Given the description of an element on the screen output the (x, y) to click on. 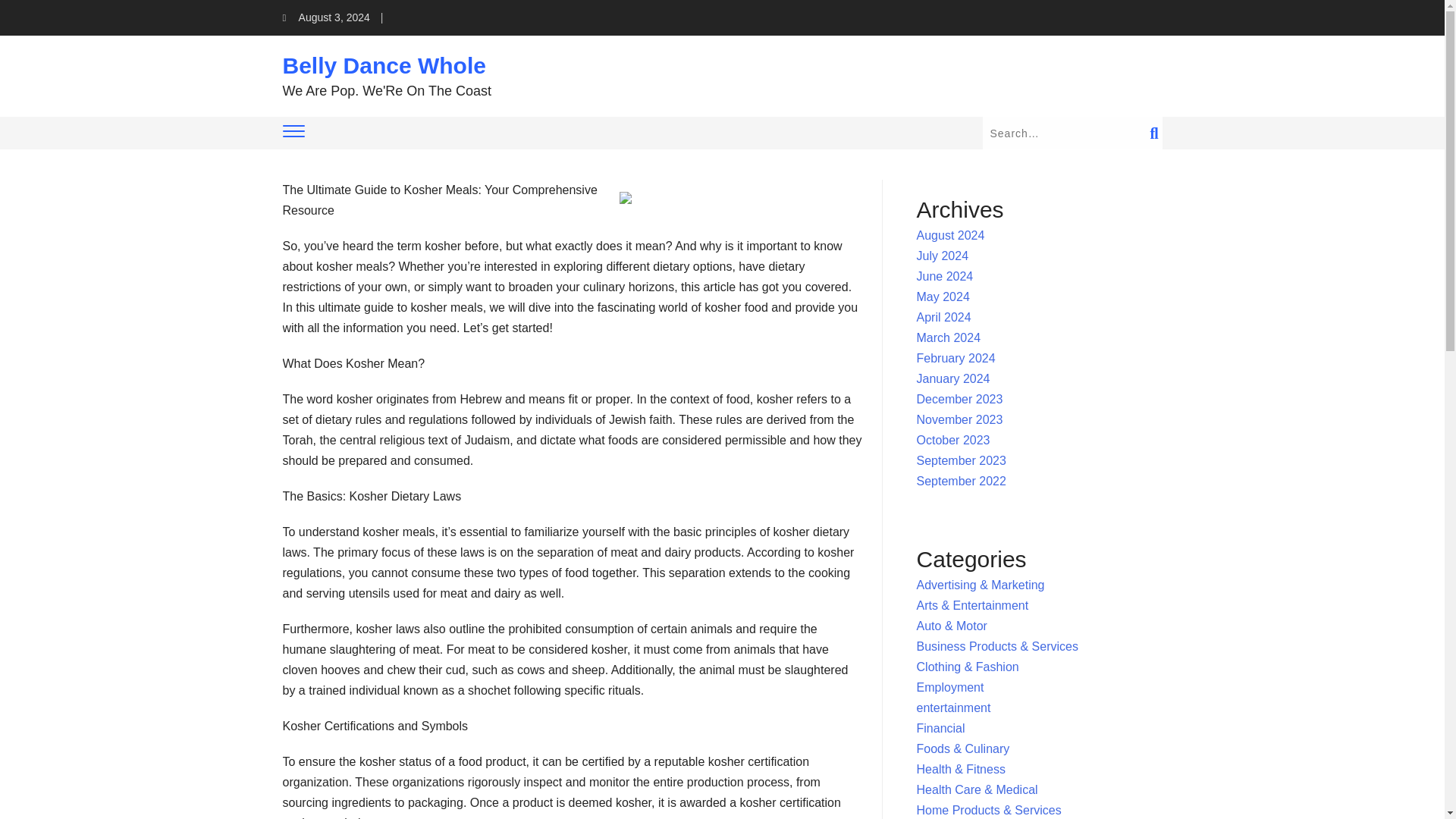
Financial (941, 727)
June 2024 (945, 276)
September 2023 (961, 460)
May 2024 (943, 296)
December 2023 (960, 399)
July 2024 (943, 255)
September 2022 (961, 481)
Belly Dance Whole (383, 65)
August 2024 (951, 235)
February 2024 (956, 358)
March 2024 (949, 337)
November 2023 (960, 419)
October 2023 (953, 440)
Employment (950, 686)
April 2024 (944, 317)
